Given the description of an element on the screen output the (x, y) to click on. 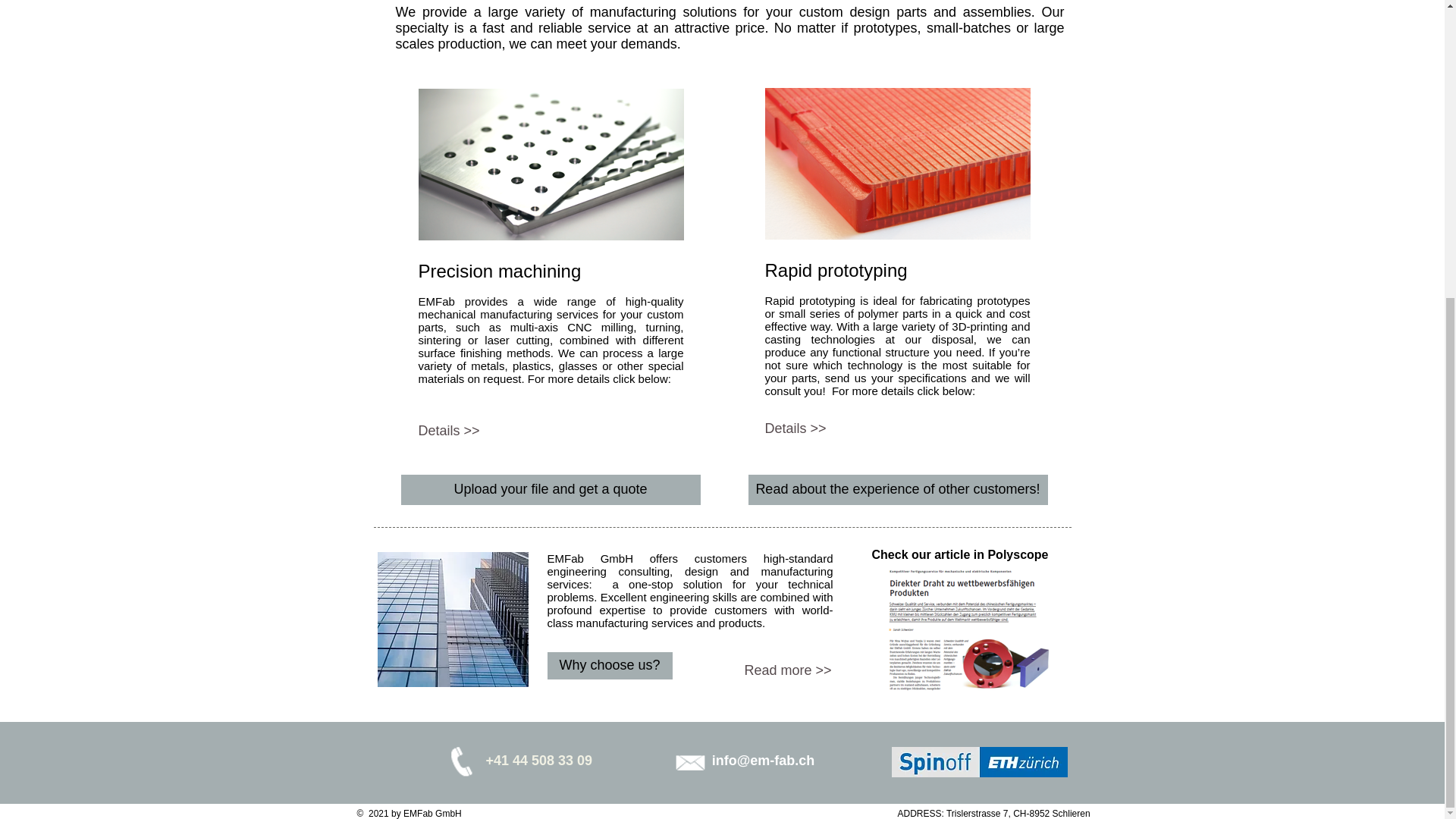
RP3.png (896, 163)
mech.png (551, 164)
Read about the experience of other customers! (897, 490)
Why choose us? (609, 665)
Upload your file and get a quote (550, 490)
